Given the description of an element on the screen output the (x, y) to click on. 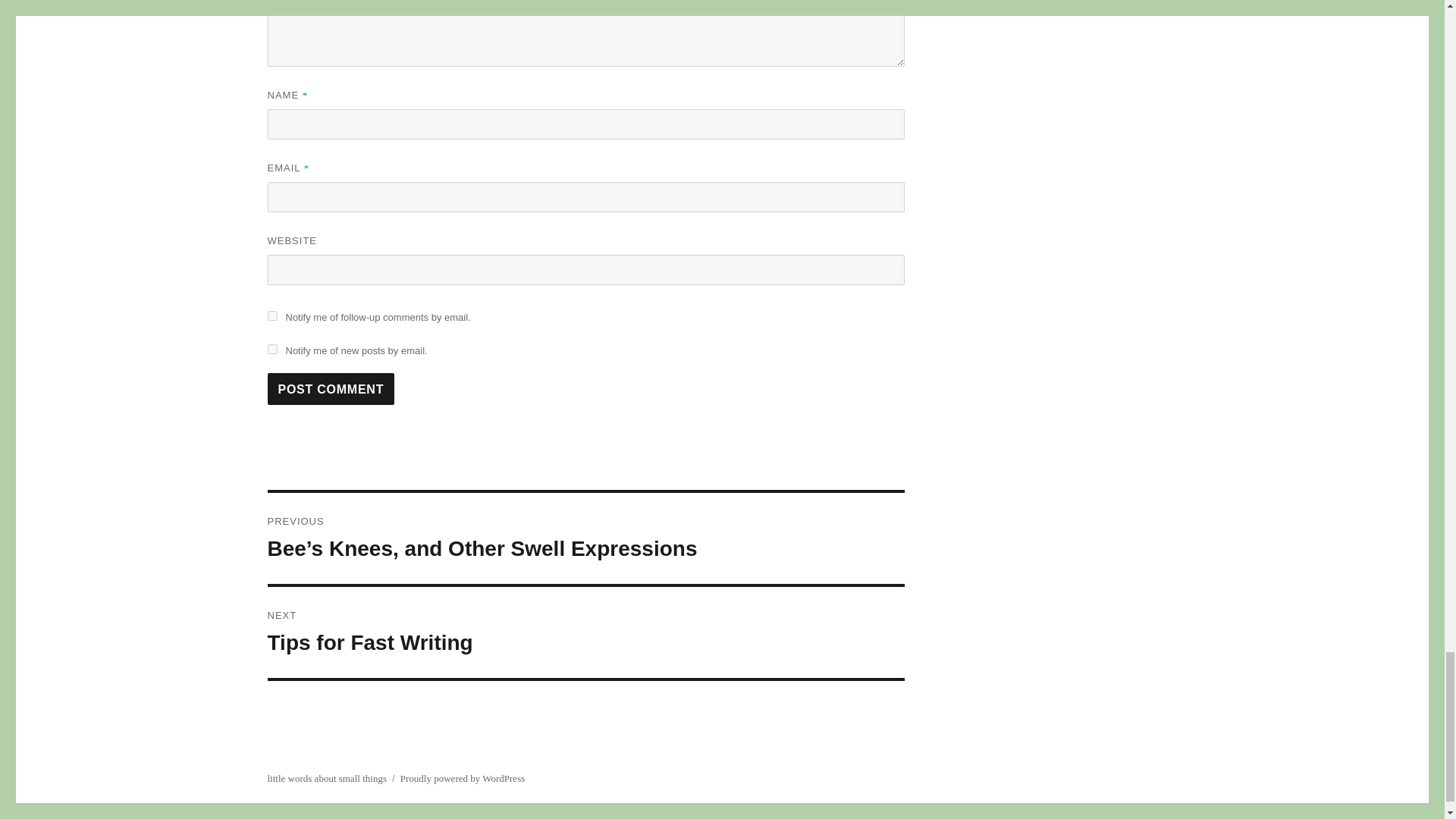
Post Comment (330, 388)
subscribe (271, 348)
Post Comment (330, 388)
subscribe (585, 632)
